Given the description of an element on the screen output the (x, y) to click on. 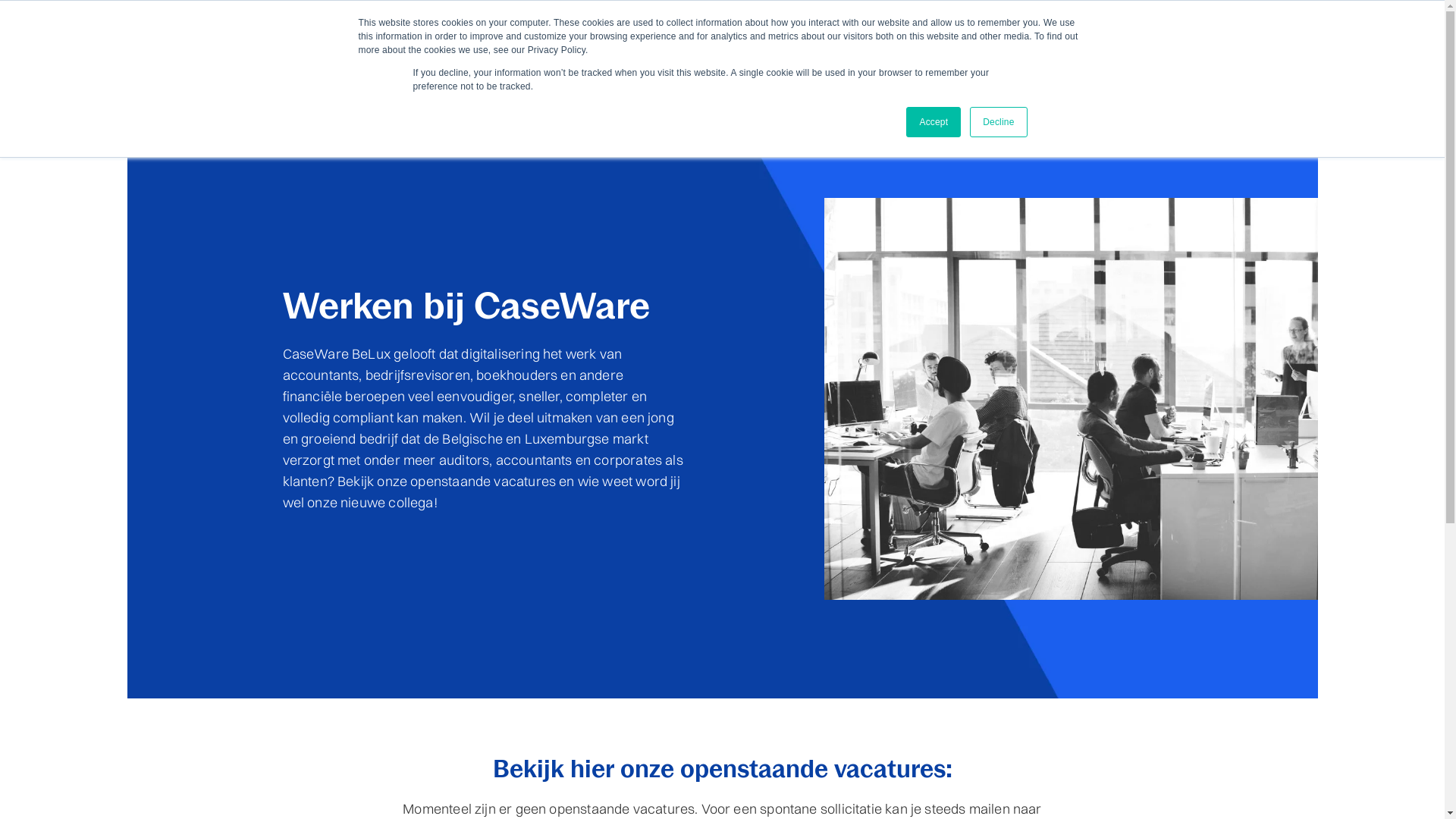
logo22_caseware Element type: hover (383, 60)
Audit LUX Element type: text (926, 63)
Accept Element type: text (933, 121)
Support Element type: text (1119, 15)
Contact Element type: text (977, 15)
Caseware Academy Element type: text (1049, 15)
Audit BE Element type: text (717, 63)
Vraag een demo Element type: text (1110, 63)
Jaarafsluiting BE Element type: text (629, 63)
Integraties Element type: text (1005, 63)
Over Caseware Element type: text (884, 15)
Decline Element type: text (997, 121)
Jaarafsluiting / Tax LUX Element type: text (820, 63)
Blog Element type: text (939, 15)
